Given the description of an element on the screen output the (x, y) to click on. 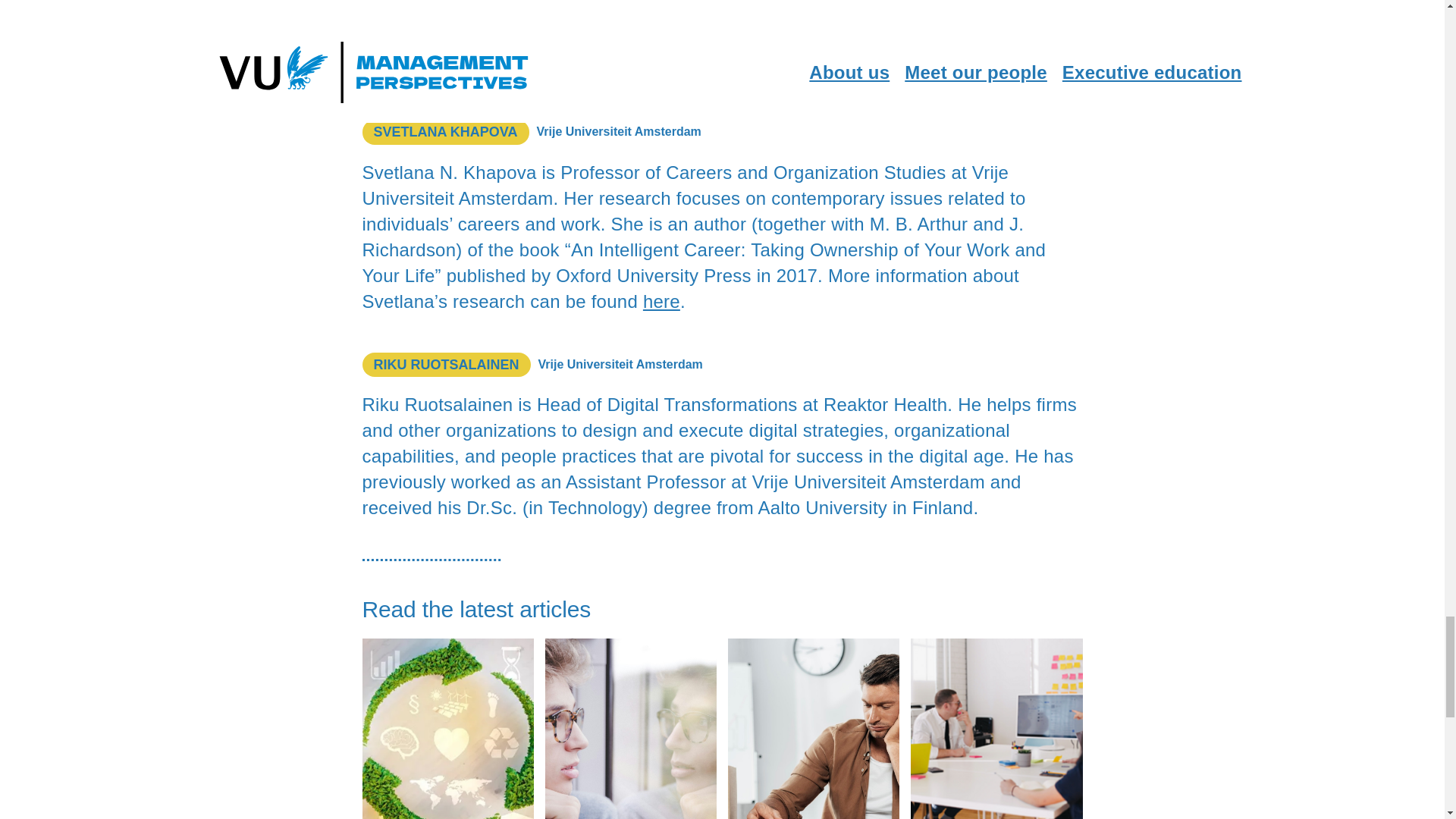
thinkinginbusiness.com (949, 68)
here (661, 301)
